Given the description of an element on the screen output the (x, y) to click on. 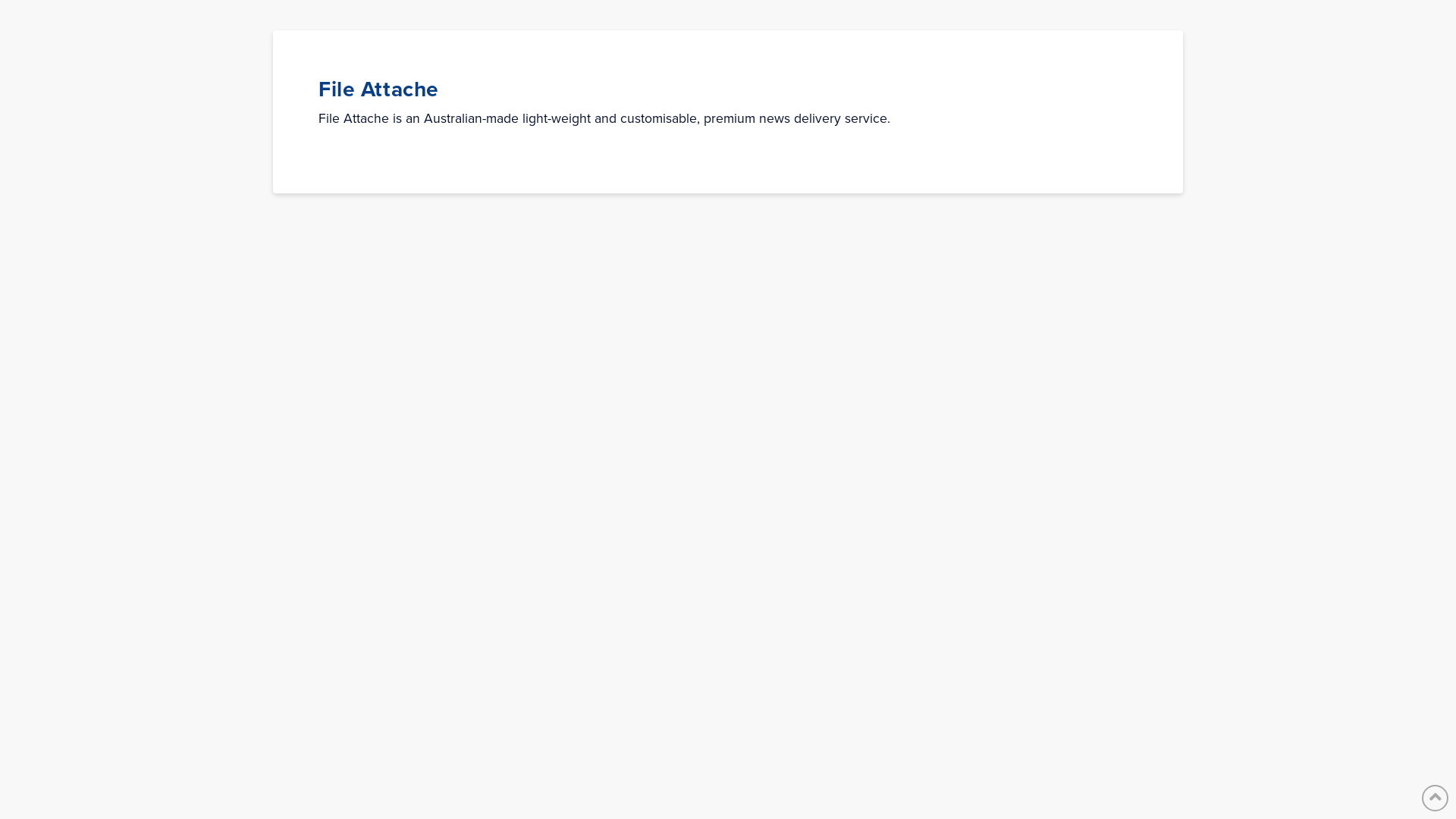
Back to Top Element type: hover (1434, 797)
